Given the description of an element on the screen output the (x, y) to click on. 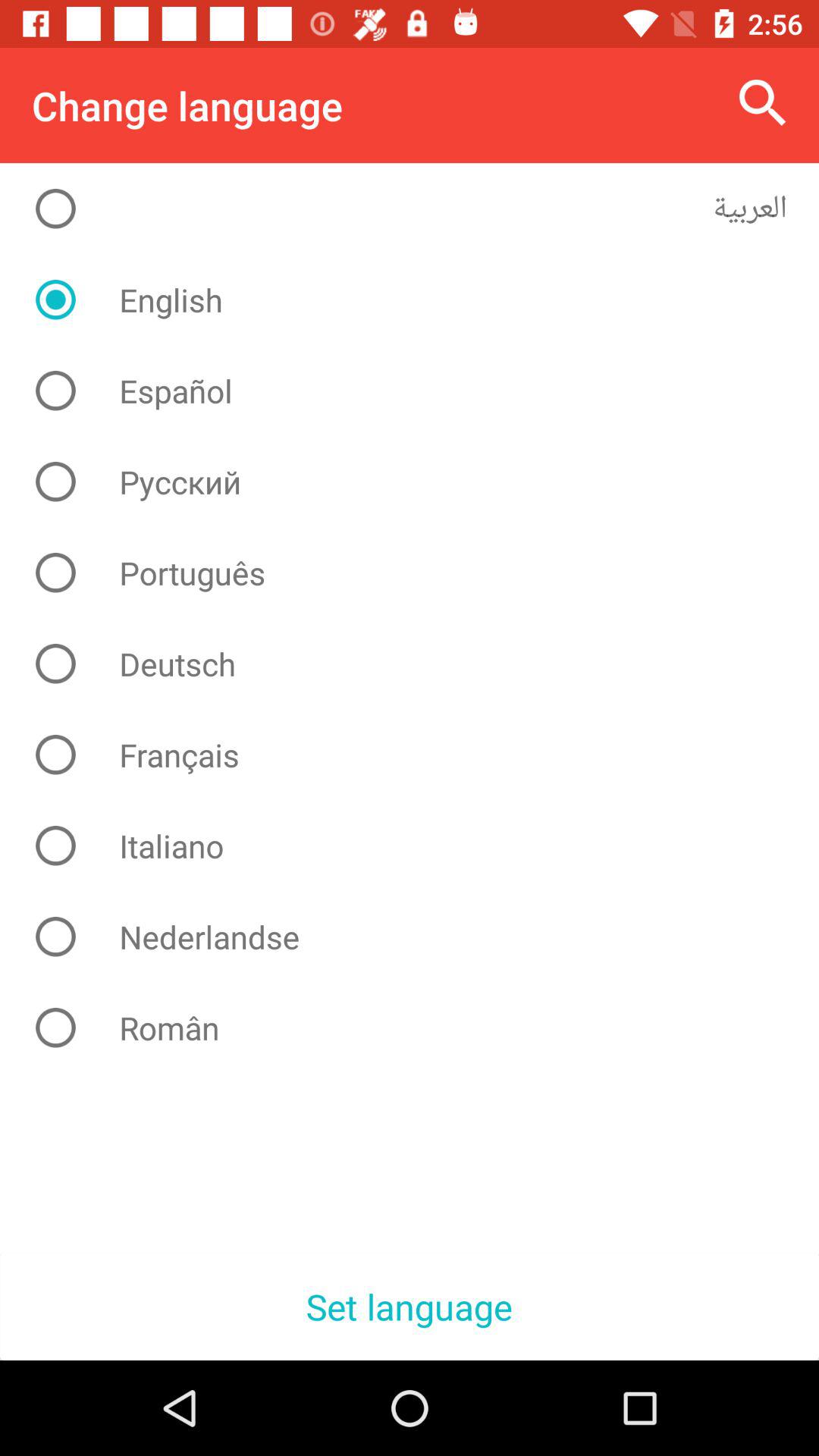
click the nederlandse icon (421, 936)
